Given the description of an element on the screen output the (x, y) to click on. 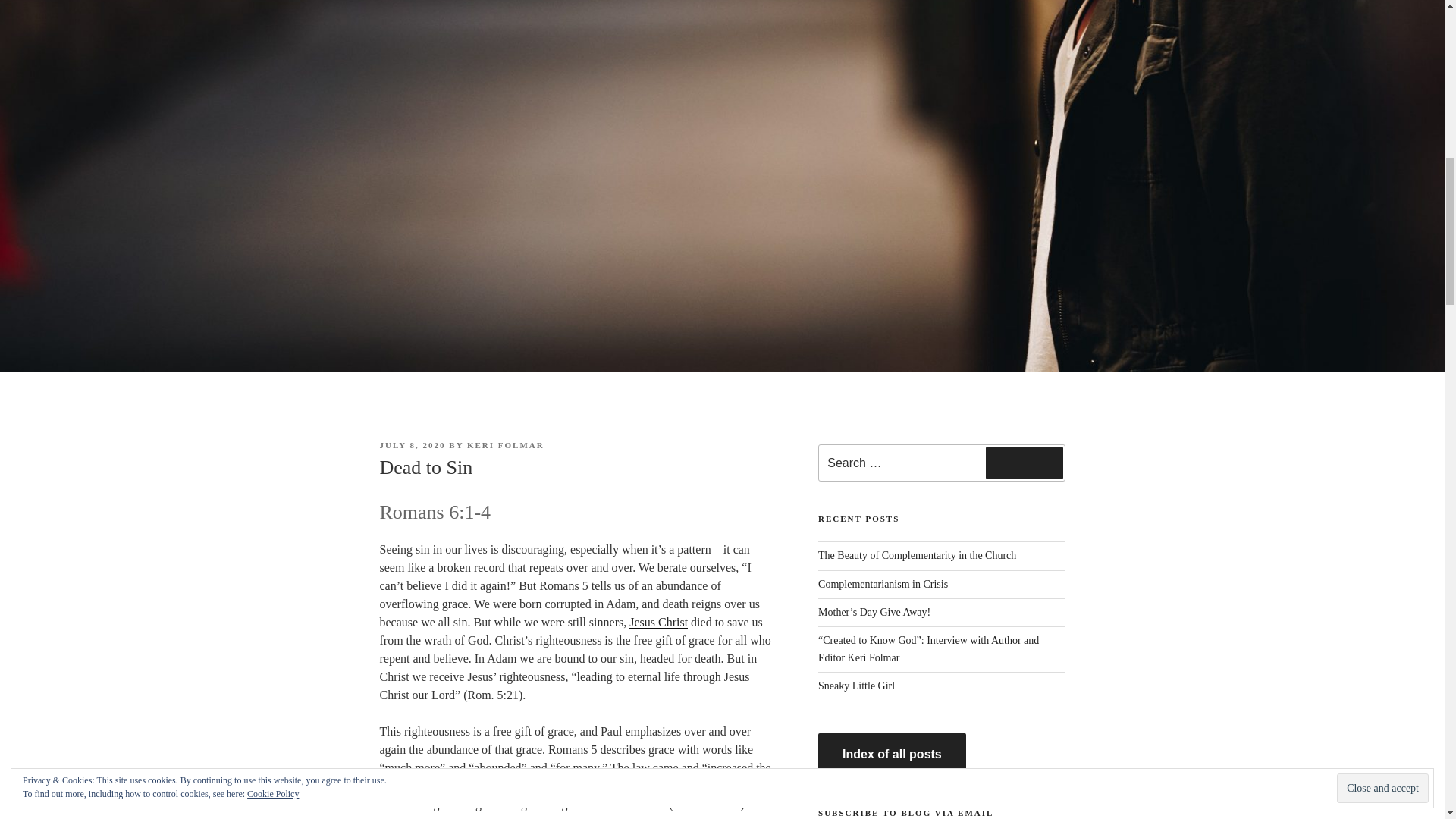
KERI FOLMAR (505, 444)
Jesus Christ (657, 621)
JULY 8, 2020 (411, 444)
